Given the description of an element on the screen output the (x, y) to click on. 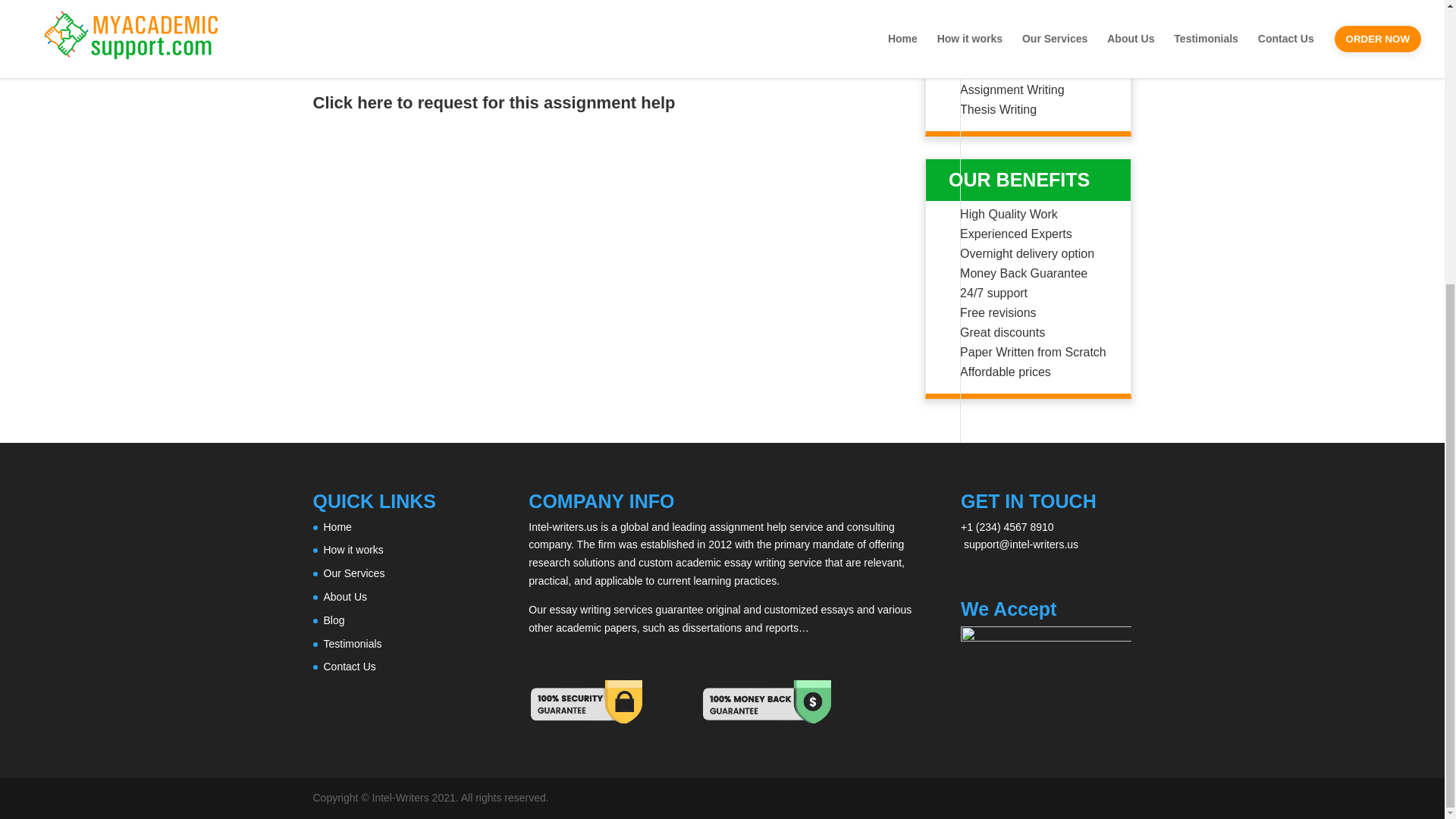
Click here to request for this assignment help (494, 102)
How it works (352, 549)
Home (336, 526)
Blog (333, 620)
Our Services (353, 573)
Testimonials (352, 644)
About Us (344, 596)
Contact Us (349, 666)
